Given the description of an element on the screen output the (x, y) to click on. 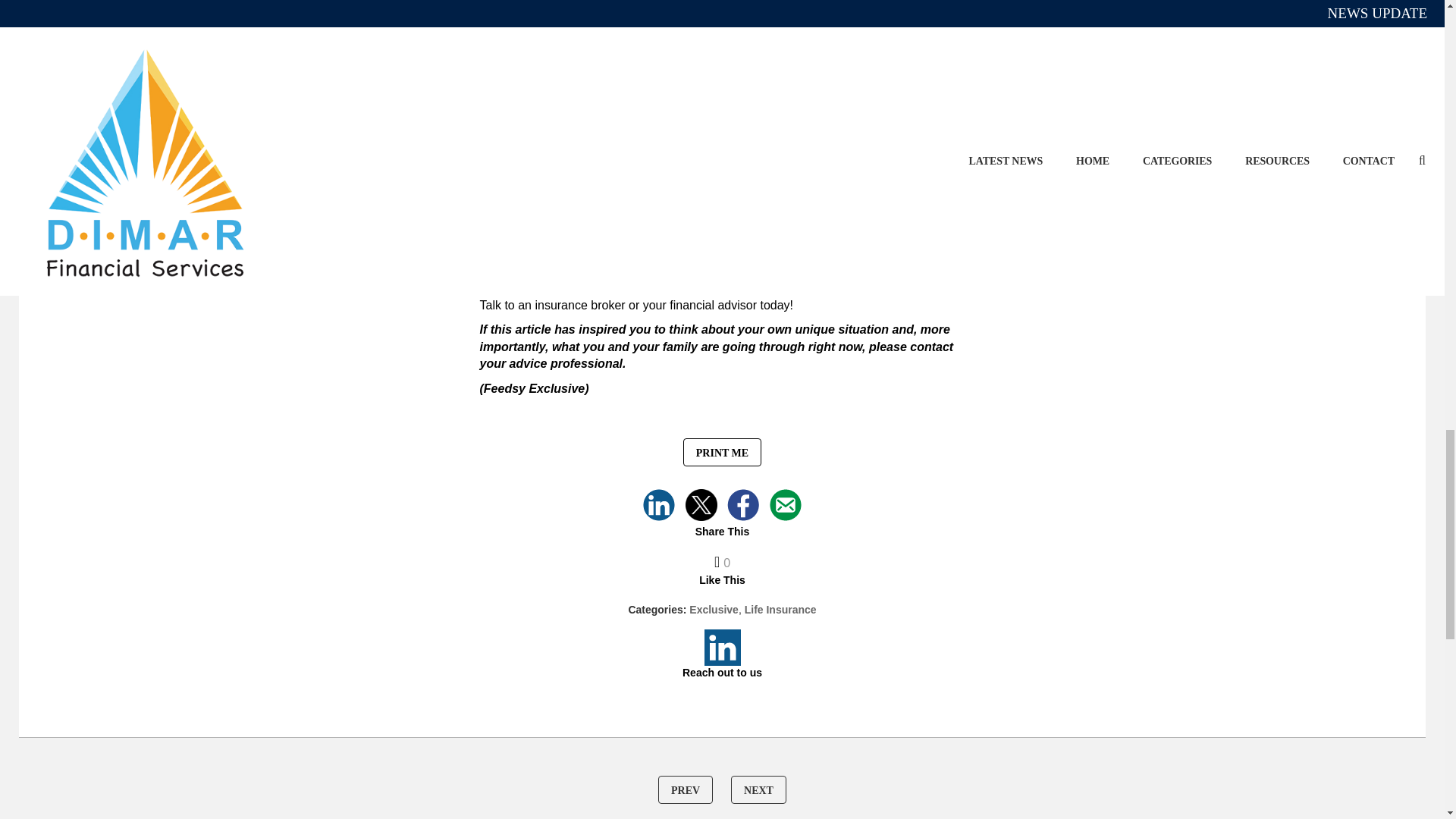
twitter (701, 504)
PRINT ME (721, 452)
linkedin (659, 504)
PREV (685, 789)
Exclusive (713, 609)
mail (786, 504)
Life Insurance (780, 609)
NEXT (758, 789)
facebook (742, 504)
